Given the description of an element on the screen output the (x, y) to click on. 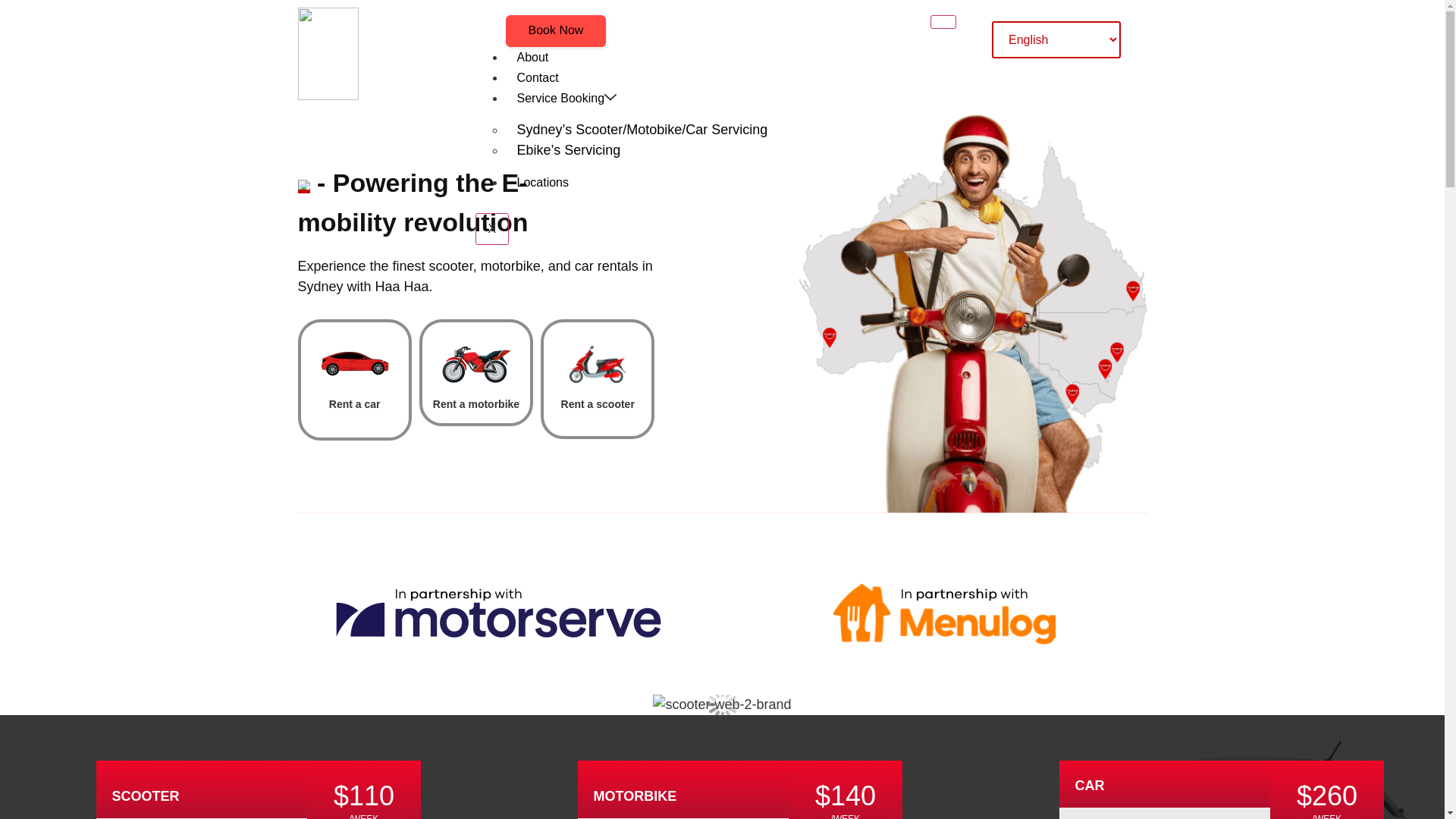
Locations Element type: text (542, 181)
Rent a motorbike Element type: text (476, 404)
Service Booking Element type: text (566, 97)
Rent a scooter Element type: text (597, 404)
Contact Element type: text (537, 77)
X Element type: text (491, 228)
Rent a car Element type: text (354, 404)
Book Now Element type: text (556, 30)
About Element type: text (532, 56)
